Given the description of an element on the screen output the (x, y) to click on. 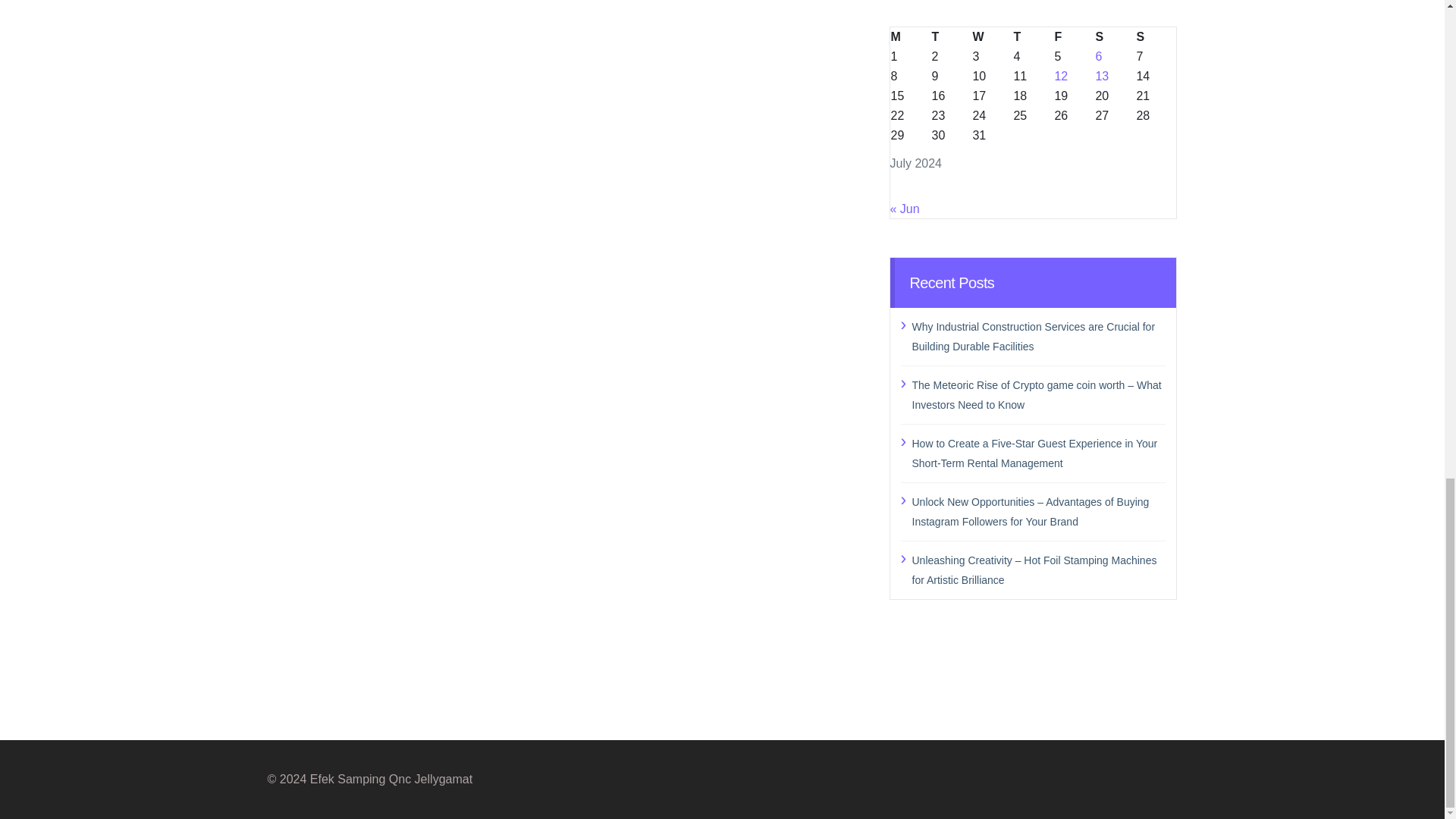
Friday (1073, 35)
Tuesday (950, 35)
13 (1101, 74)
Sunday (1155, 35)
Wednesday (991, 35)
Monday (910, 35)
Saturday (1114, 35)
12 (1060, 74)
Thursday (1031, 35)
